Given the description of an element on the screen output the (x, y) to click on. 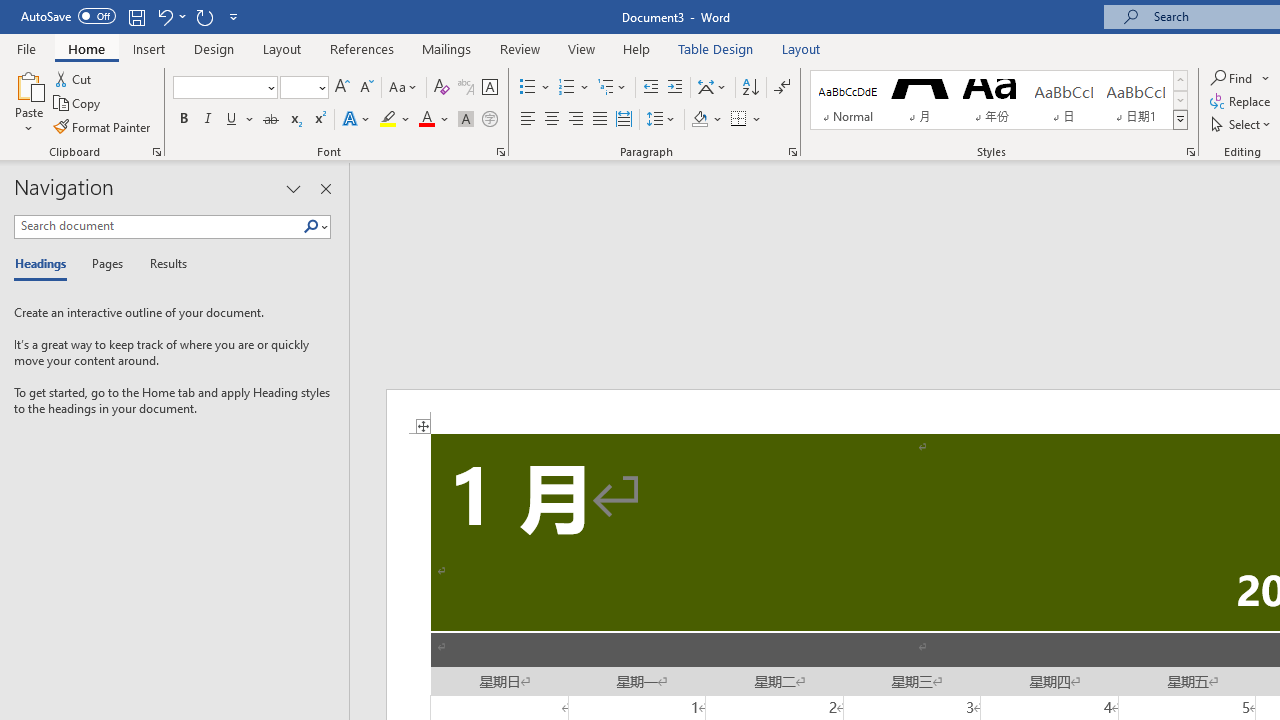
Paste (28, 102)
Phonetic Guide... (465, 87)
Decrease Indent (650, 87)
Align Right (575, 119)
Font Size (304, 87)
Subscript (294, 119)
View (582, 48)
Text Effects and Typography (357, 119)
AutomationID: QuickStylesGallery (999, 99)
Borders (746, 119)
Justify (599, 119)
Paste (28, 84)
Open (320, 87)
